Given the description of an element on the screen output the (x, y) to click on. 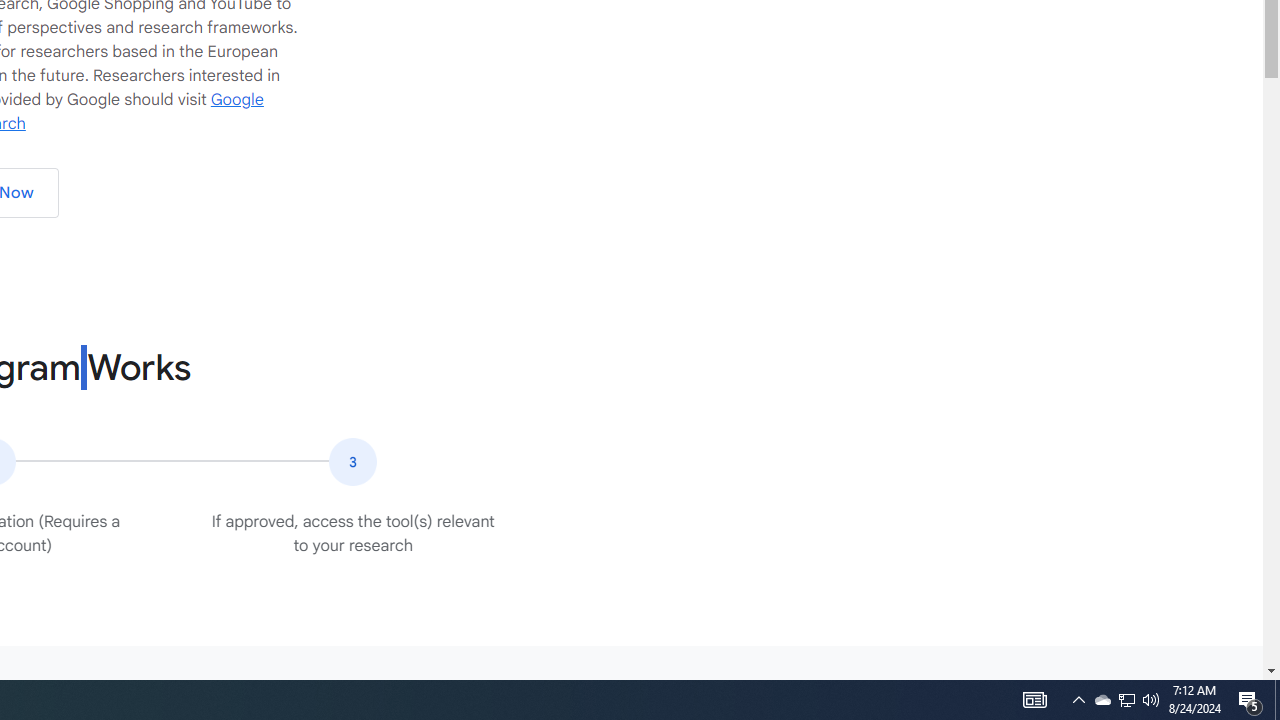
The number three in a circular icon. (352, 461)
